Given the description of an element on the screen output the (x, y) to click on. 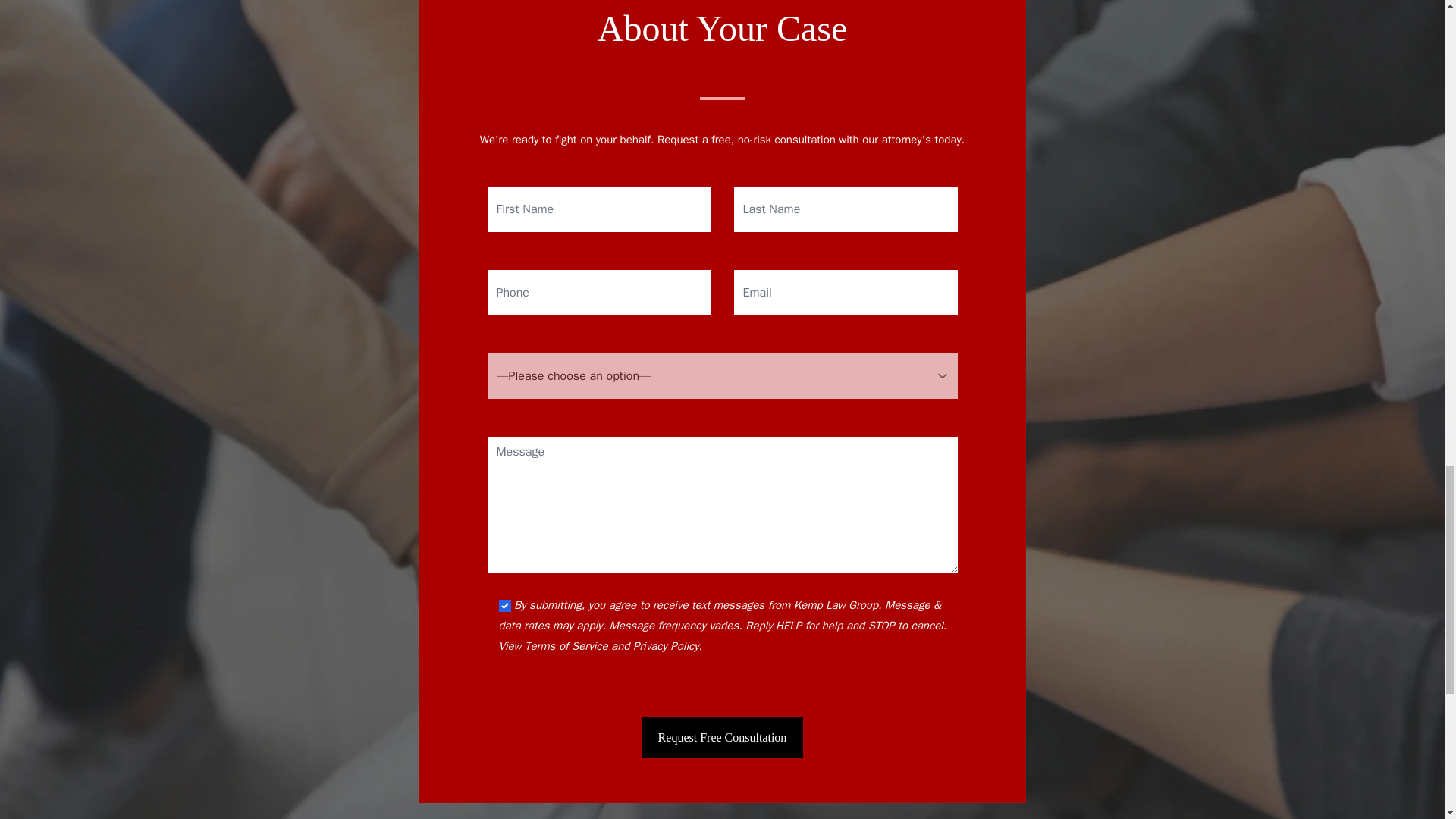
1 (505, 605)
Request Free Consultation (722, 737)
